Given the description of an element on the screen output the (x, y) to click on. 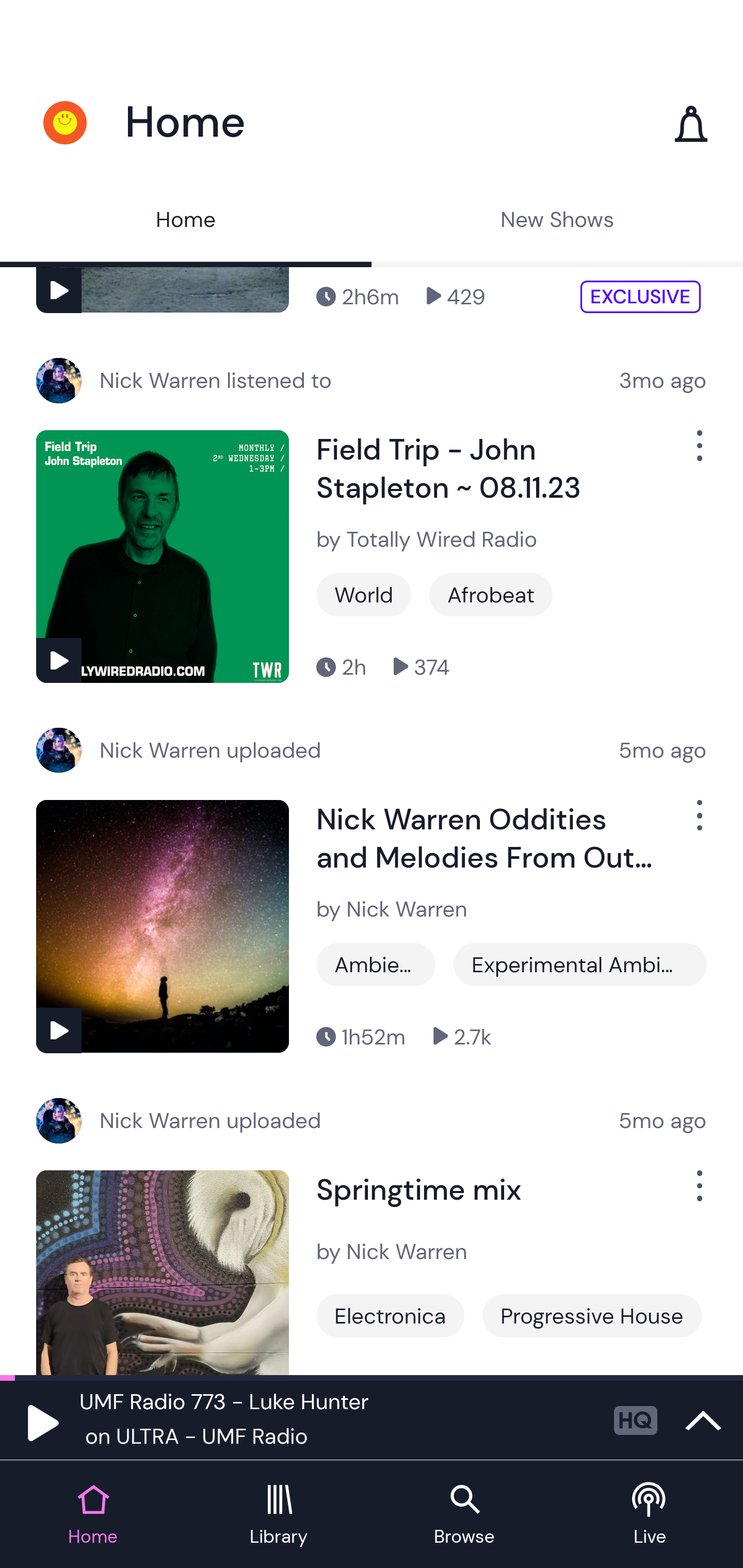
Home (185, 221)
New Shows (557, 221)
Show Options Menu Button (697, 452)
World (363, 594)
Afrobeat (490, 594)
Show Options Menu Button (697, 822)
Ambient (375, 964)
Experimental Ambient (579, 964)
Show Options Menu Button (697, 1192)
Electronica (390, 1315)
Progressive House (591, 1315)
Home tab Home (92, 1515)
Library tab Library (278, 1515)
Browse tab Browse (464, 1515)
Live tab Live (650, 1515)
